Given the description of an element on the screen output the (x, y) to click on. 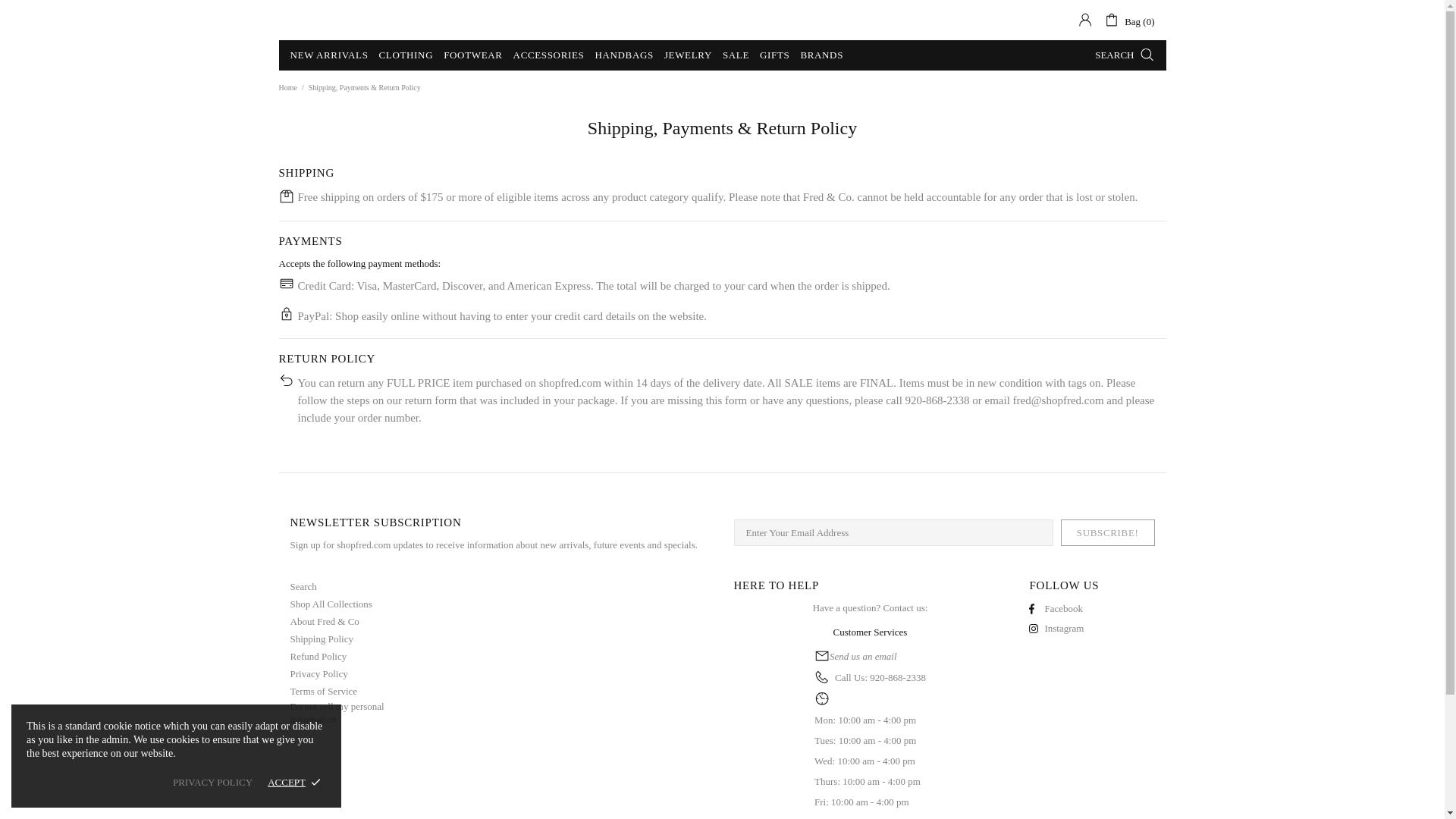
ACCESSORIES (548, 55)
SUBSCRIBE! (1107, 532)
NEW ARRIVALS (329, 55)
CLOTHING (406, 55)
FOOTWEAR (472, 55)
